Given the description of an element on the screen output the (x, y) to click on. 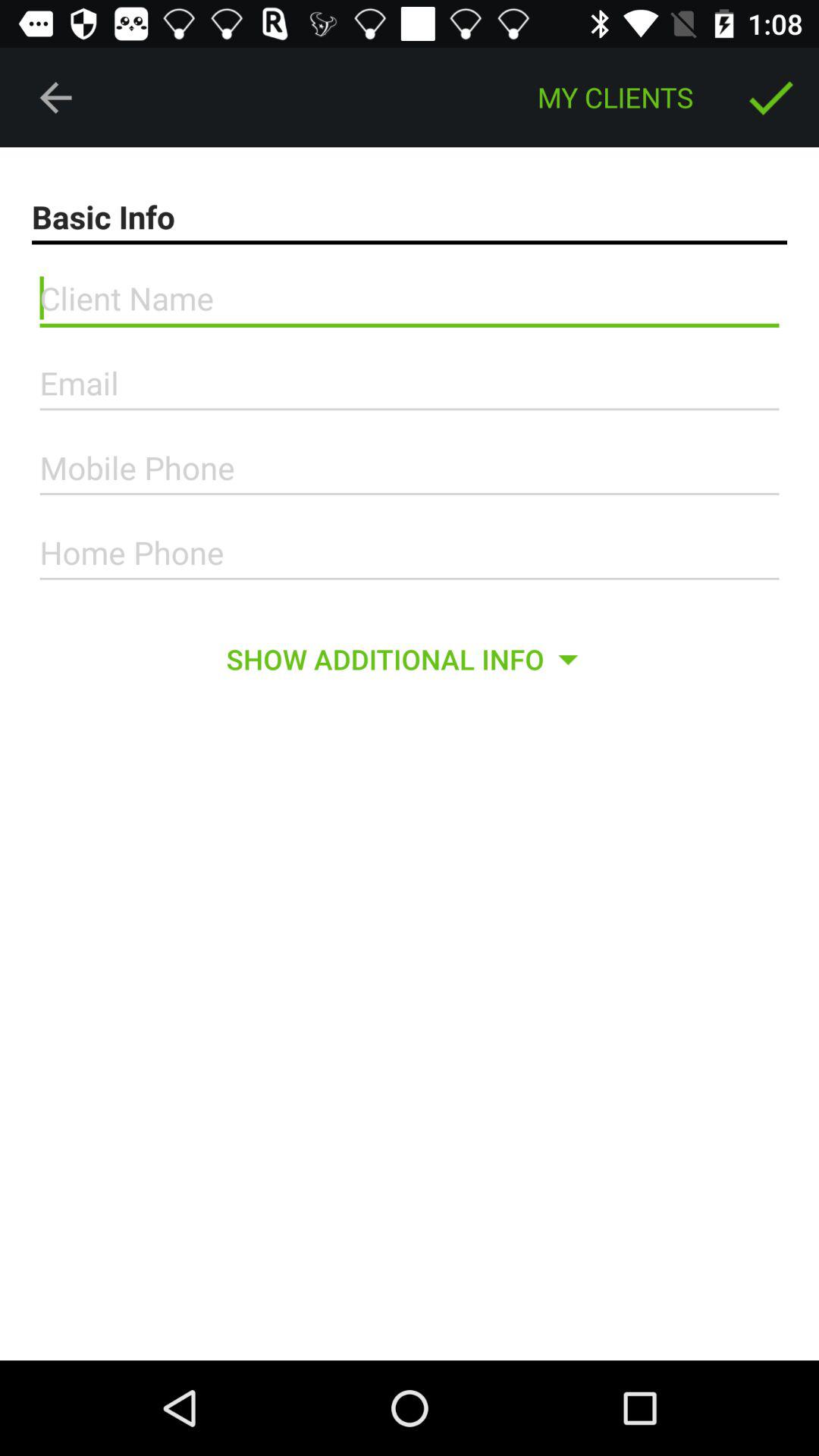
open icon to the right of the my clients (771, 97)
